Given the description of an element on the screen output the (x, y) to click on. 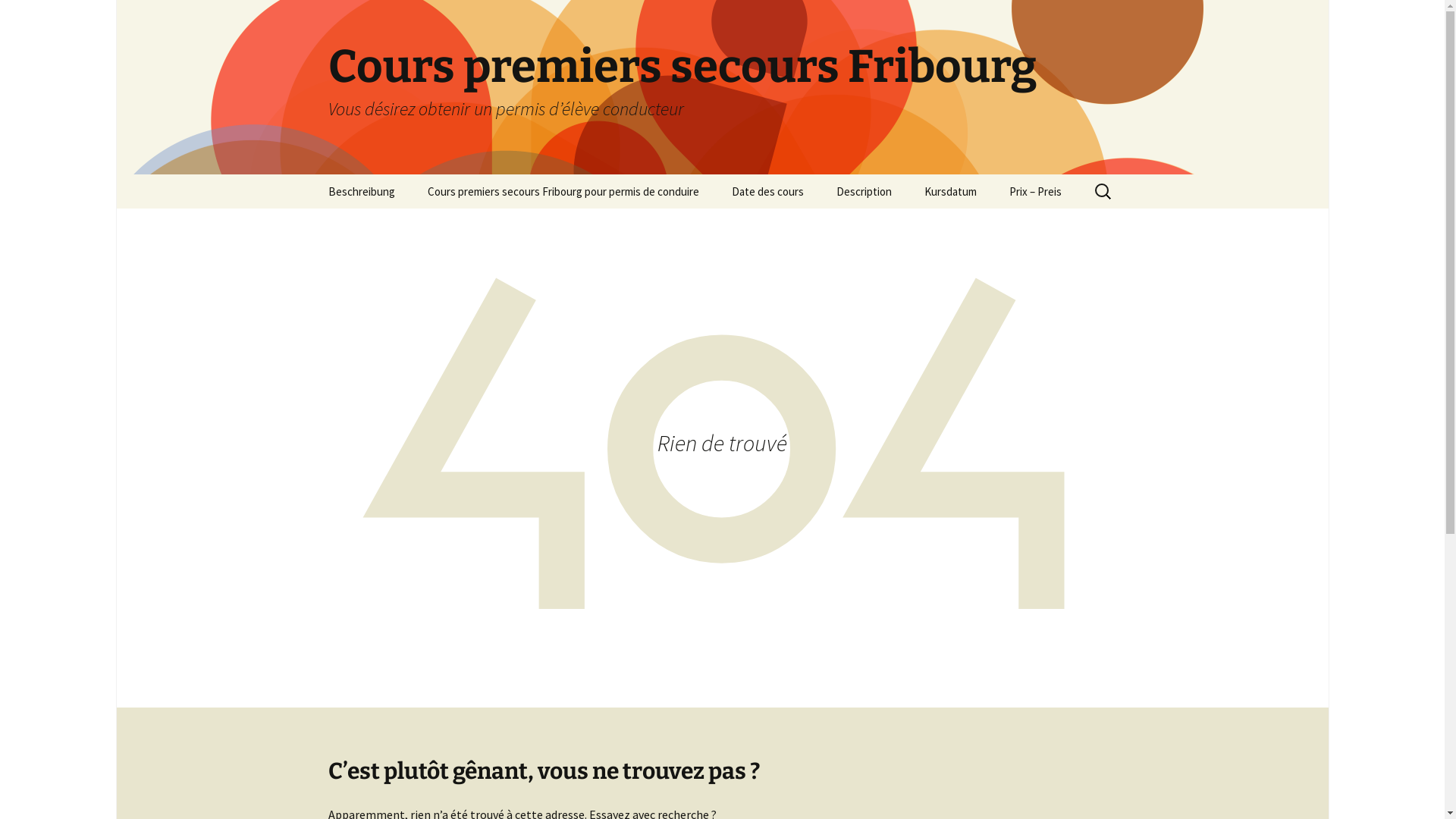
Rechercher Element type: text (47, 16)
Rechercher Element type: text (18, 16)
Date des cours Element type: text (766, 191)
Aller au contenu Element type: text (312, 173)
Beschreibung Element type: text (360, 191)
Kursdatum Element type: text (949, 191)
Description Element type: text (863, 191)
Cours premiers secours Fribourg pour permis de conduire Element type: text (563, 191)
